Given the description of an element on the screen output the (x, y) to click on. 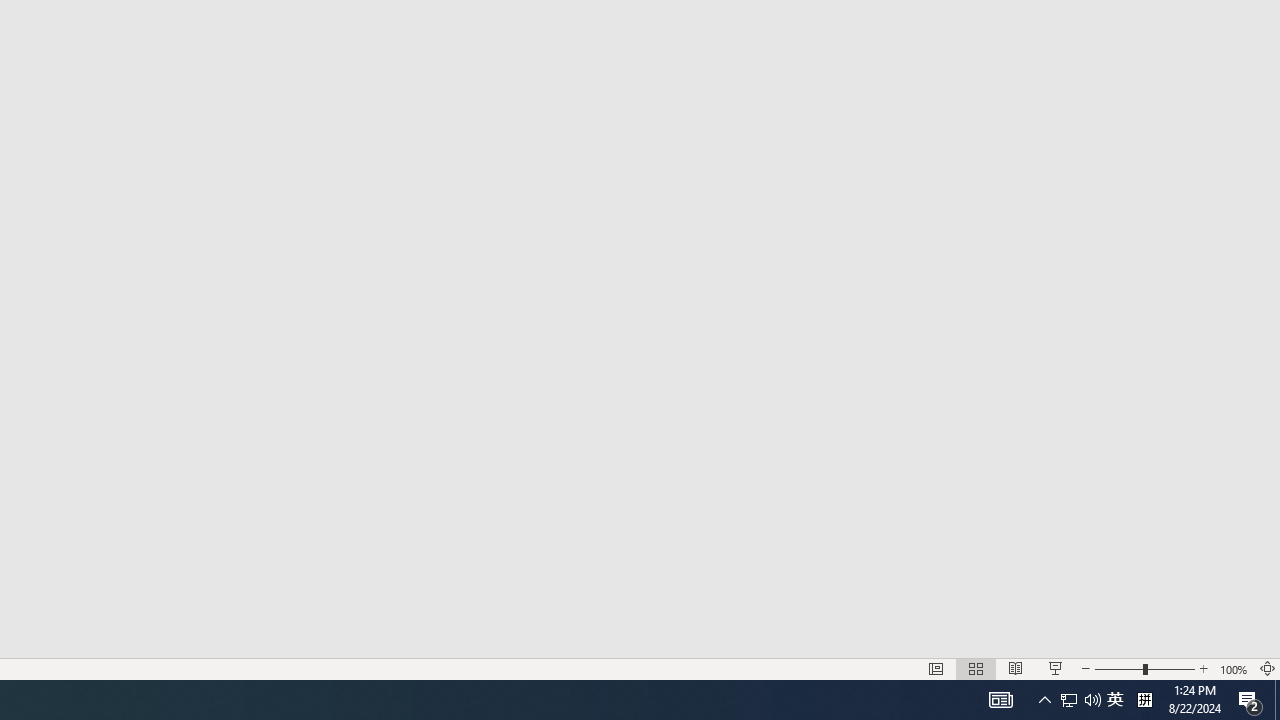
Zoom 100% (1234, 668)
